Given the description of an element on the screen output the (x, y) to click on. 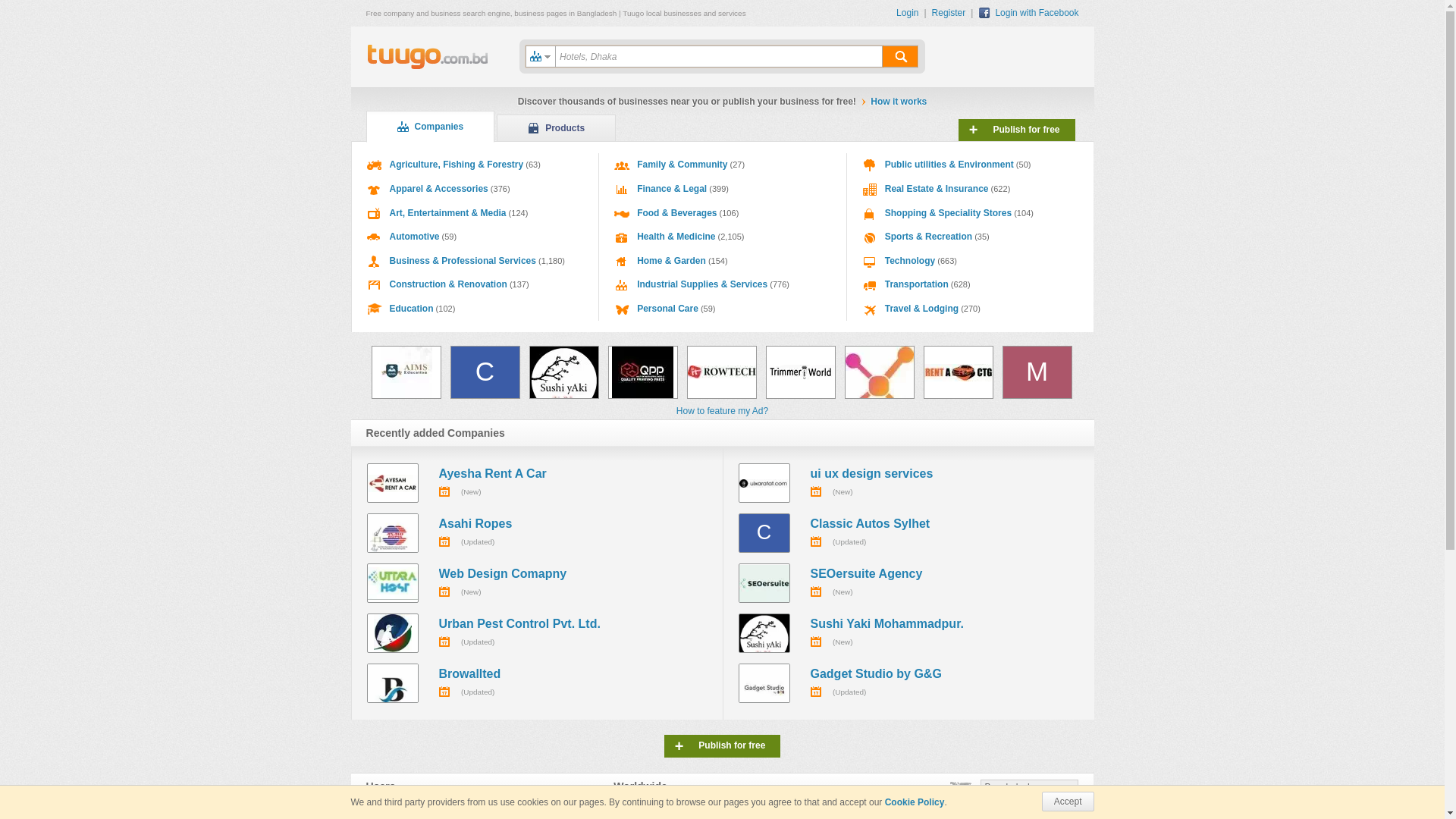
 Art, Entertainment & Media (124) Element type: text (475, 213)
Urban Pest Control Pvt. Ltd.
   (Updated) Element type: text (536, 633)
 Personal Care (59) Element type: text (722, 309)
 Public utilities & Environment (50) Element type: text (970, 165)
+Publish for free Element type: text (1016, 130)
 Home & Garden (154) Element type: text (722, 261)
 Sports & Recreation (35) Element type: text (970, 237)
ui ux design services
   (New) Element type: text (908, 483)
 Business & Professional Services (1,180) Element type: text (475, 261)
Asahi Ropes
   (Updated) Element type: text (536, 533)
 Industrial Supplies & Services (776) Element type: text (722, 285)
 Finance & Legal (399) Element type: text (722, 189)
Ayesha Rent A Car
   (New) Element type: text (536, 483)
Register Element type: text (952, 12)
 Travel & Lodging (270) Element type: text (970, 309)
www.tuugo.com.bd Element type: text (427, 57)
Sushi Yaki Mohammadpur.
   (New) Element type: text (908, 633)
Companies Element type: text (429, 126)
Accept Element type: text (1067, 801)
How it works Element type: text (898, 101)
SEOersuite Agency
   (New) Element type: text (908, 583)
C Element type: text (485, 371)
 Construction & Renovation (137) Element type: text (475, 285)
Web Design Comapny
   (New) Element type: text (536, 583)
How to feature my Ad? Element type: text (722, 410)
 Apparel & Accessories (376) Element type: text (475, 189)
 Automotive (59) Element type: text (475, 237)
Login with Facebook Element type: text (1028, 12)
 Family & Community (27) Element type: text (722, 165)
 Real Estate & Insurance (622) Element type: text (970, 189)
Login Element type: text (911, 12)
 Education (102) Element type: text (475, 309)
 Technology (663) Element type: text (970, 261)
Products Element type: text (555, 127)
M Element type: text (1037, 371)
 Food & Beverages (106) Element type: text (722, 213)
Browallted
   (Updated) Element type: text (536, 683)
C
Classic Autos Sylhet
   (Updated) Element type: text (908, 533)
Gadget Studio by G&G
   (Updated) Element type: text (908, 683)
+Publish for free Element type: text (722, 745)
 Transportation (628) Element type: text (970, 285)
Cookie Policy Element type: text (914, 802)
 Shopping & Speciality Stores (104) Element type: text (970, 213)
 Agriculture, Fishing & Forestry (63) Element type: text (475, 165)
 Health & Medicine (2,105) Element type: text (722, 237)
